Given the description of an element on the screen output the (x, y) to click on. 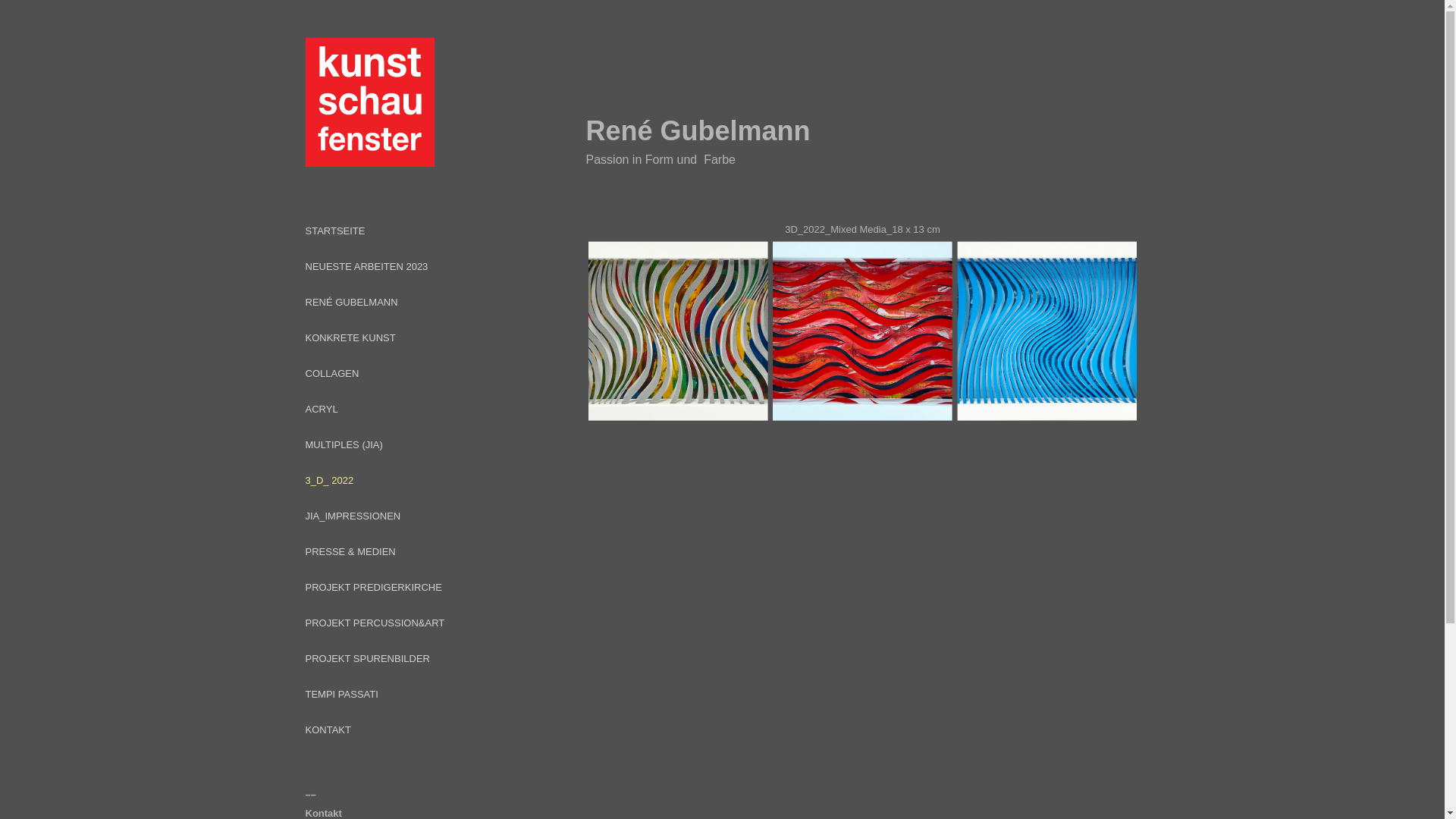
KONTAKT Element type: text (327, 729)
NEUESTE ARBEITEN 2023 Element type: text (365, 266)
3_D_ 2022 Element type: text (328, 480)
KONKRETE KUNST Element type: text (349, 337)
PROJEKT PREDIGERKIRCHE Element type: text (372, 587)
TEMPI PASSATI Element type: text (340, 693)
PRESSE & MEDIEN Element type: text (349, 551)
PROJEKT PERCUSSION&ART Element type: text (374, 622)
STARTSEITE Element type: text (334, 230)
JIA_IMPRESSIONEN Element type: text (352, 515)
COLLAGEN Element type: text (331, 373)
PROJEKT SPURENBILDER Element type: text (366, 658)
MULTIPLES (JIA) Element type: text (343, 444)
ACRYL Element type: text (320, 408)
